Given the description of an element on the screen output the (x, y) to click on. 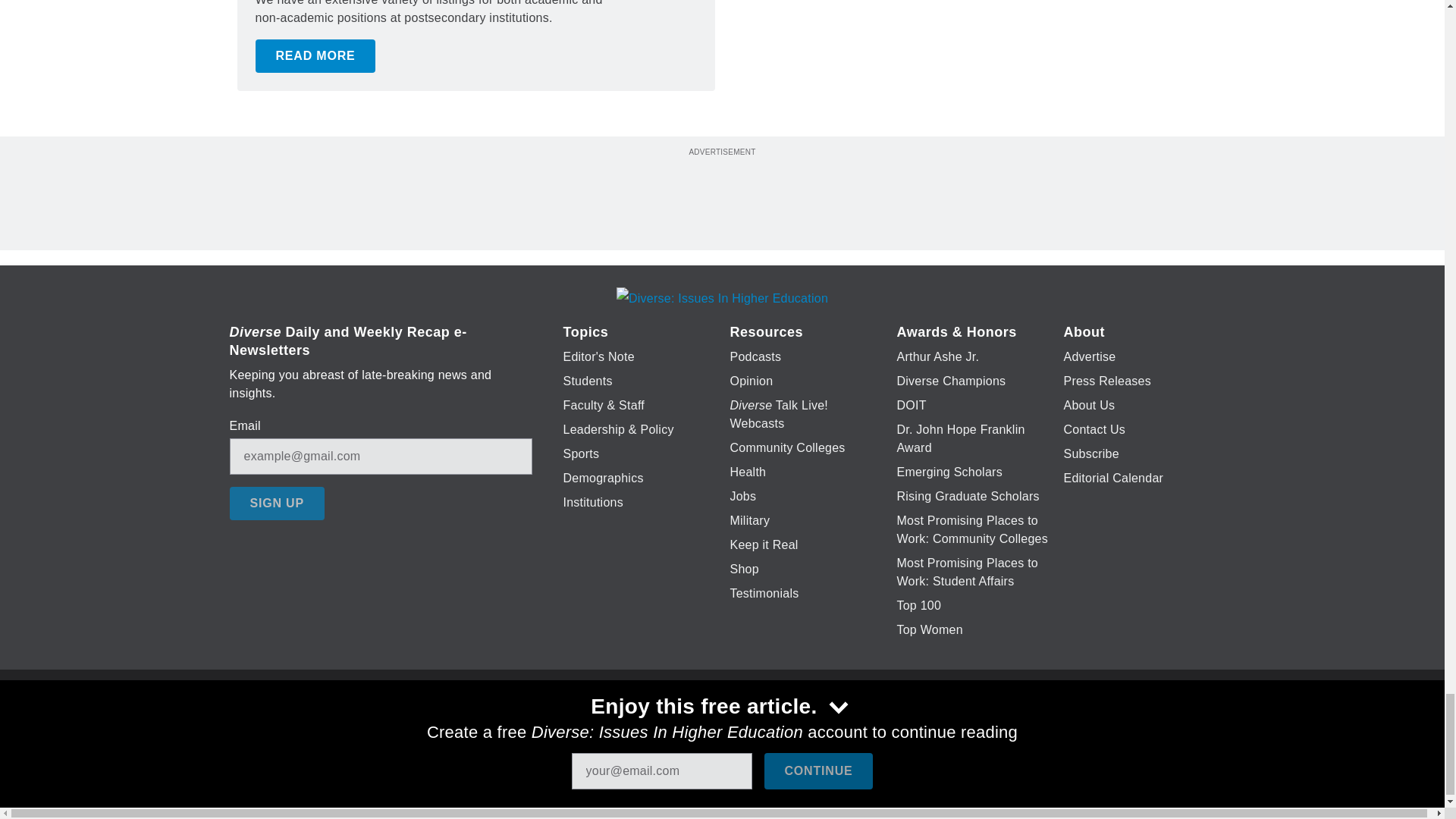
Facebook icon (635, 727)
Instagram icon (796, 727)
Twitter X icon (674, 727)
YouTube icon (757, 727)
LinkedIn icon (718, 727)
